Given the description of an element on the screen output the (x, y) to click on. 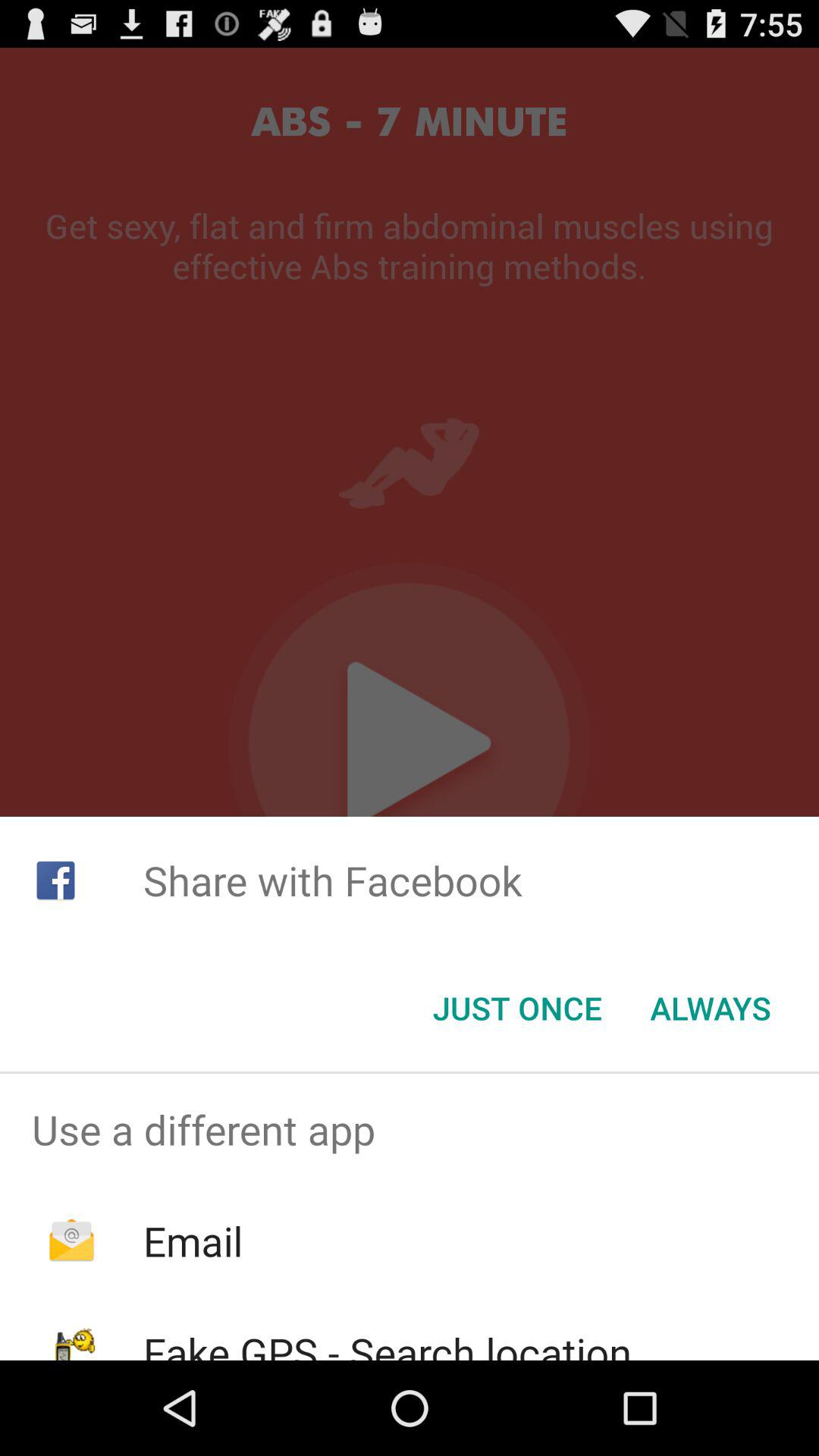
launch icon to the left of the always button (517, 1007)
